Given the description of an element on the screen output the (x, y) to click on. 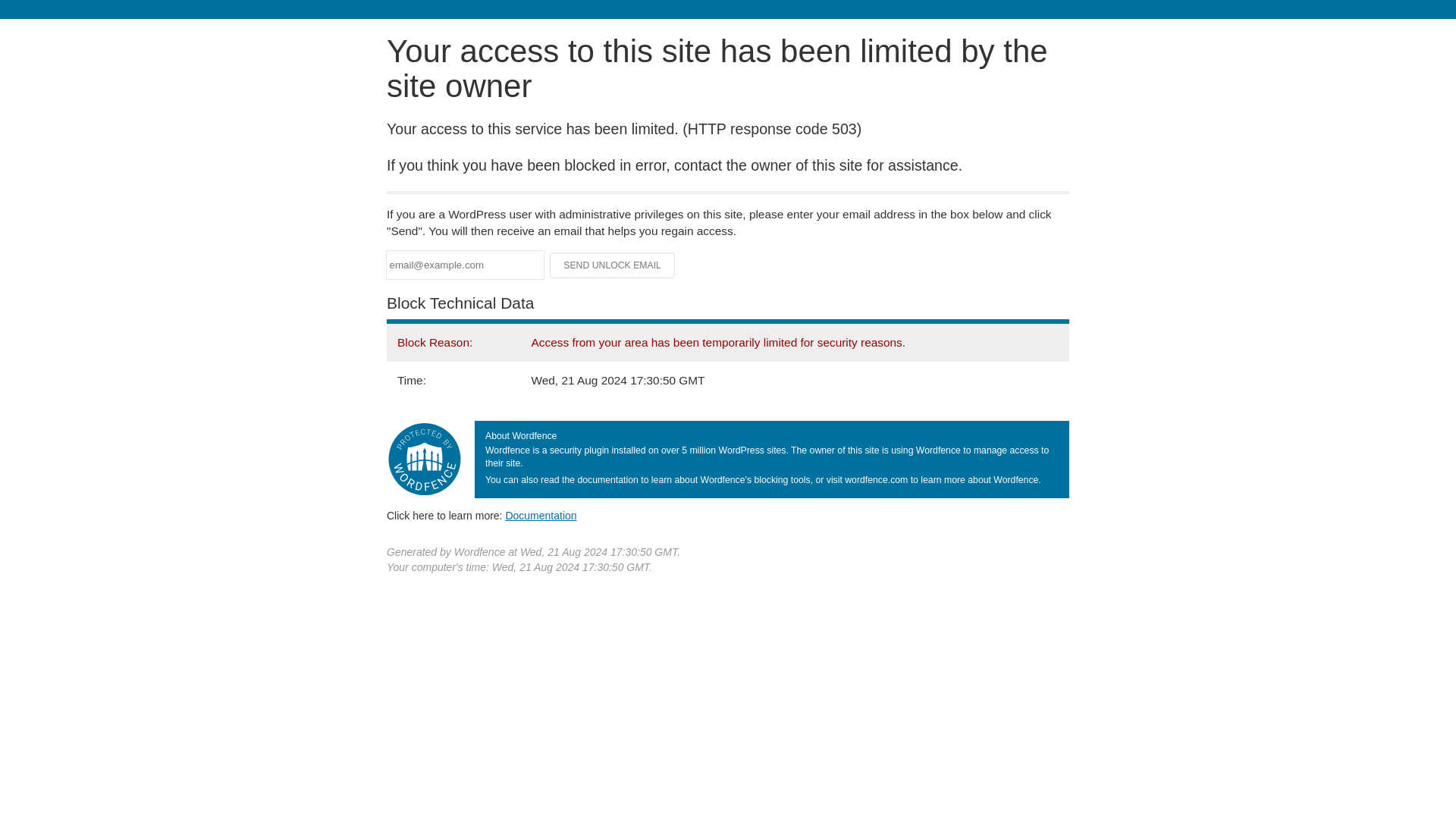
Send Unlock Email (612, 265)
Send Unlock Email (612, 265)
Documentation (540, 515)
